Given the description of an element on the screen output the (x, y) to click on. 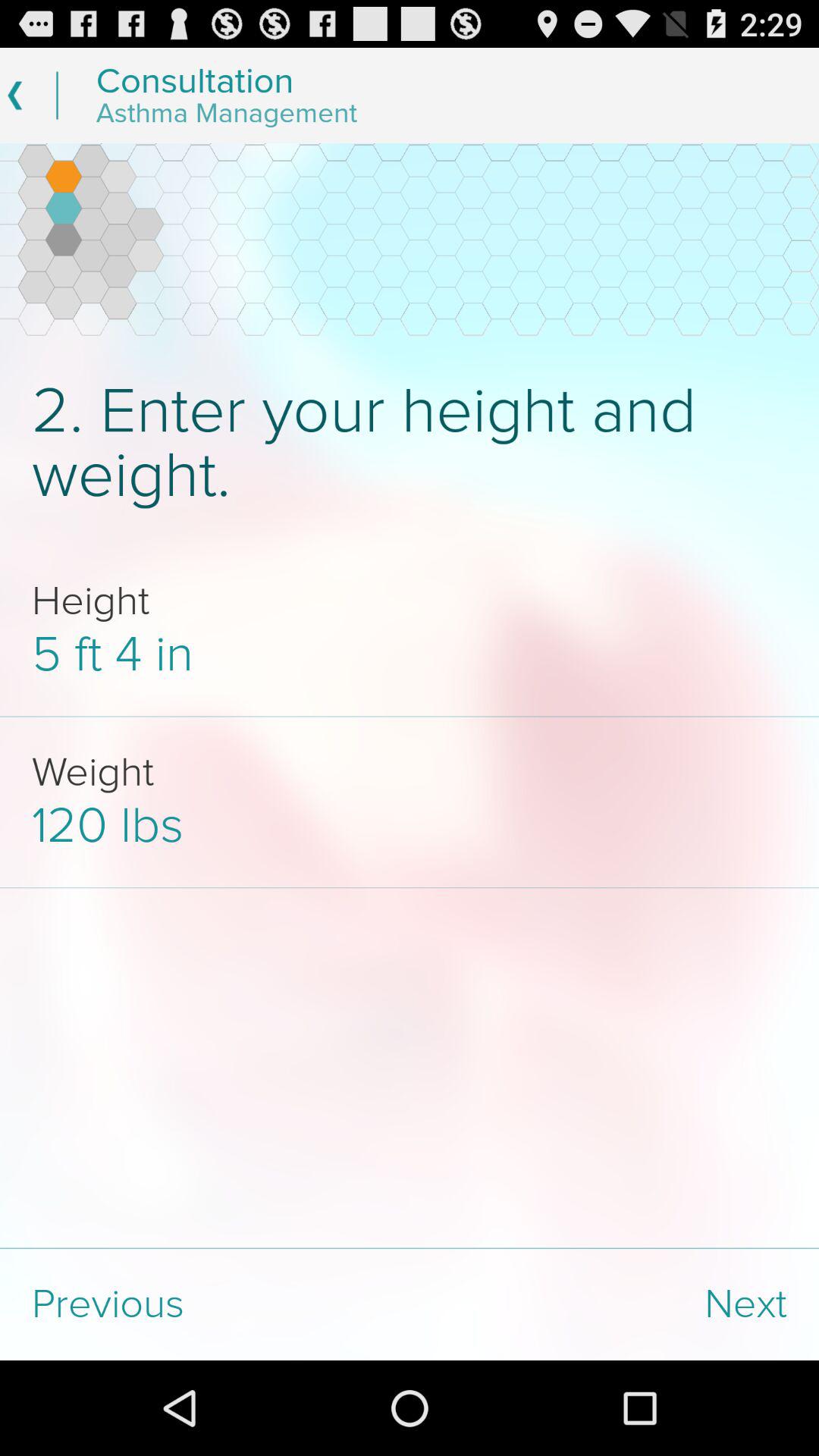
click on the button which is next to the previous (614, 1304)
